Given the description of an element on the screen output the (x, y) to click on. 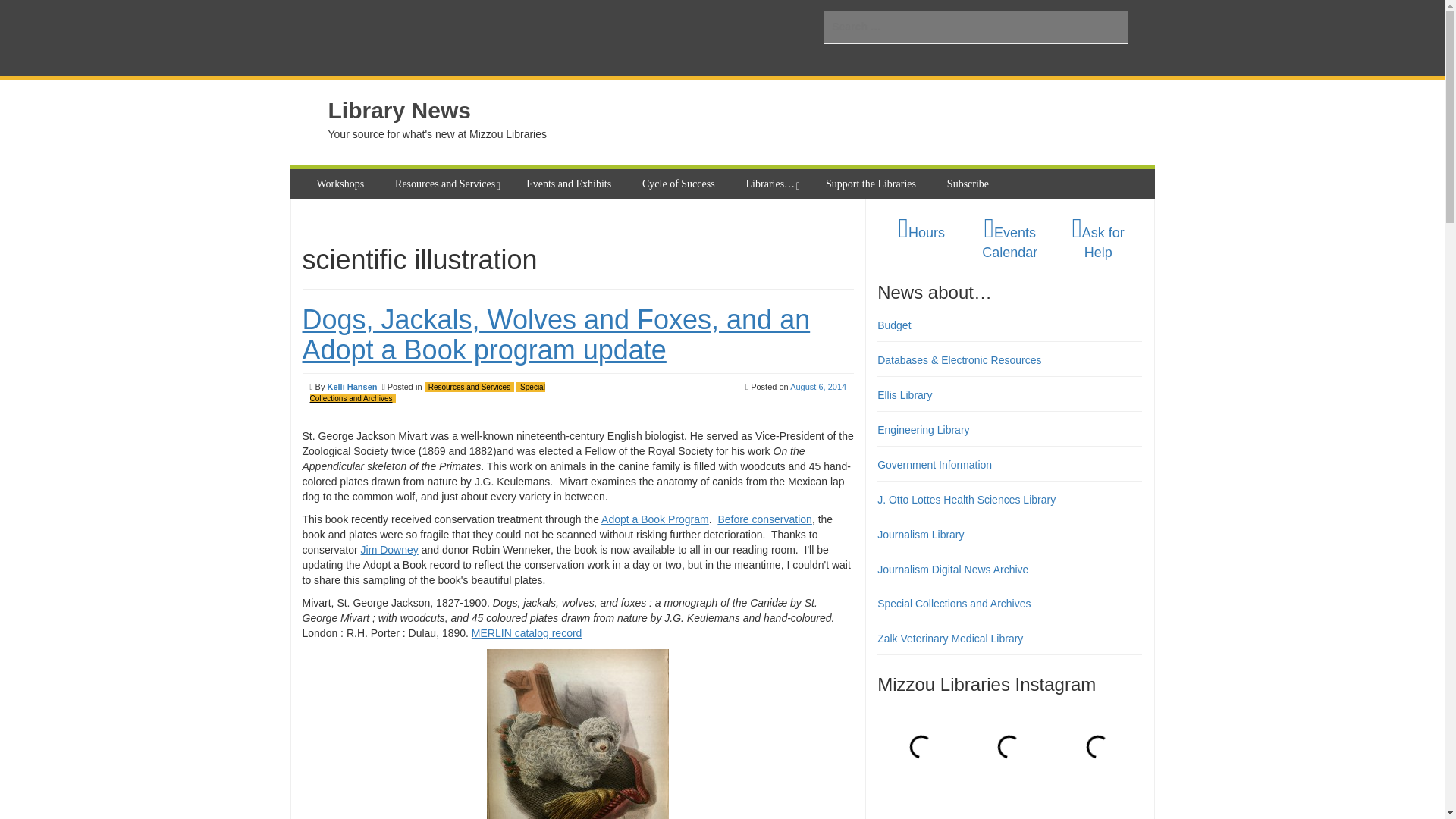
Subscribe (969, 183)
Workshops (341, 183)
Resources and Services (446, 183)
Libraries, University of Missouri (444, 38)
Resources and Services (469, 387)
Events and Exhibits (570, 183)
Special Collections and Archives (426, 393)
Jim Downey (390, 549)
Library News (398, 109)
Kelli Hansen (351, 386)
Support the Libraries (872, 183)
August 6, 2014 (817, 386)
Adopt a Book Program (655, 519)
MERLIN catalog record (526, 633)
